Given the description of an element on the screen output the (x, y) to click on. 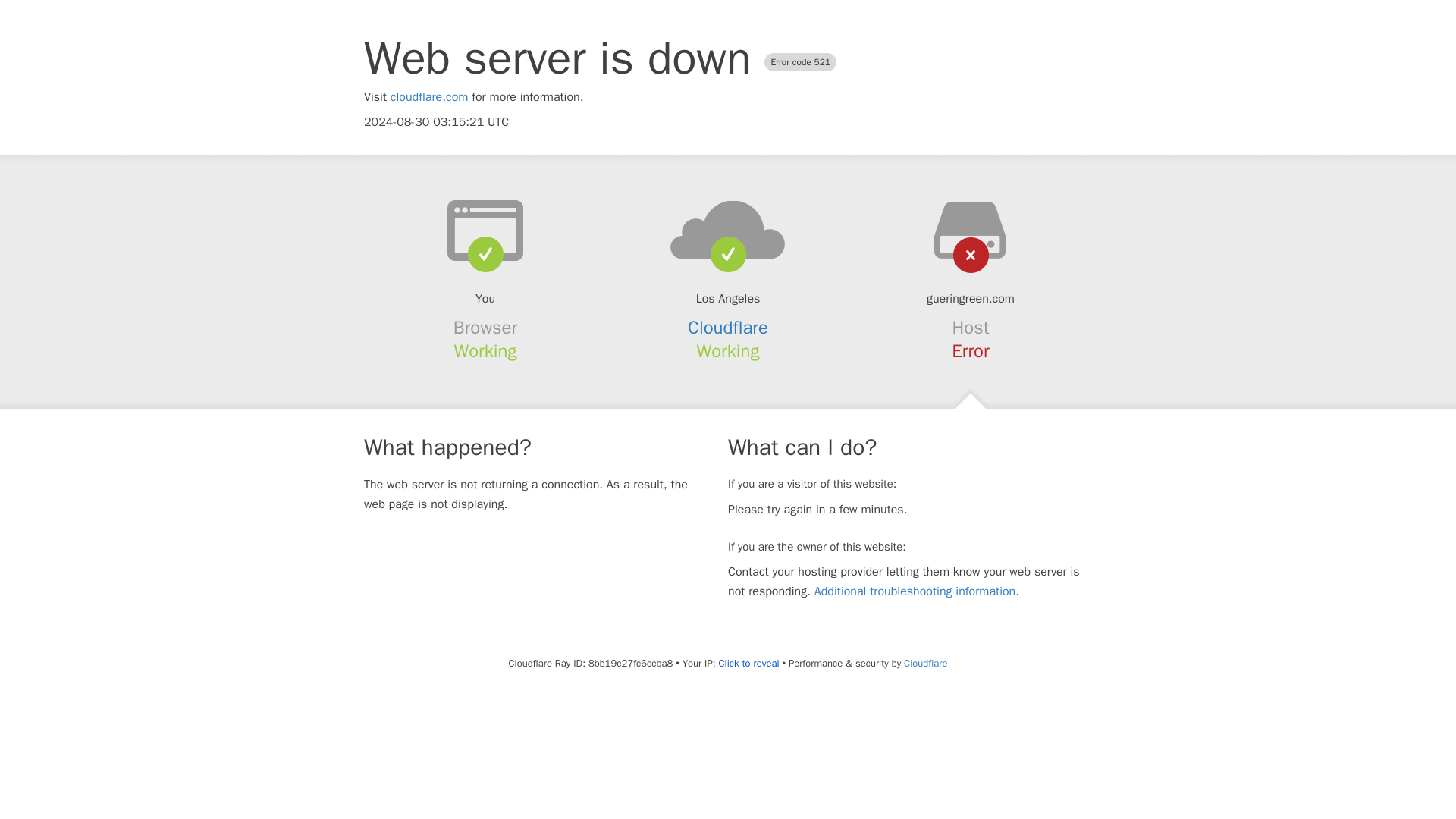
Cloudflare (727, 327)
Cloudflare (925, 662)
Click to reveal (748, 663)
cloudflare.com (429, 96)
Additional troubleshooting information (913, 590)
